Given the description of an element on the screen output the (x, y) to click on. 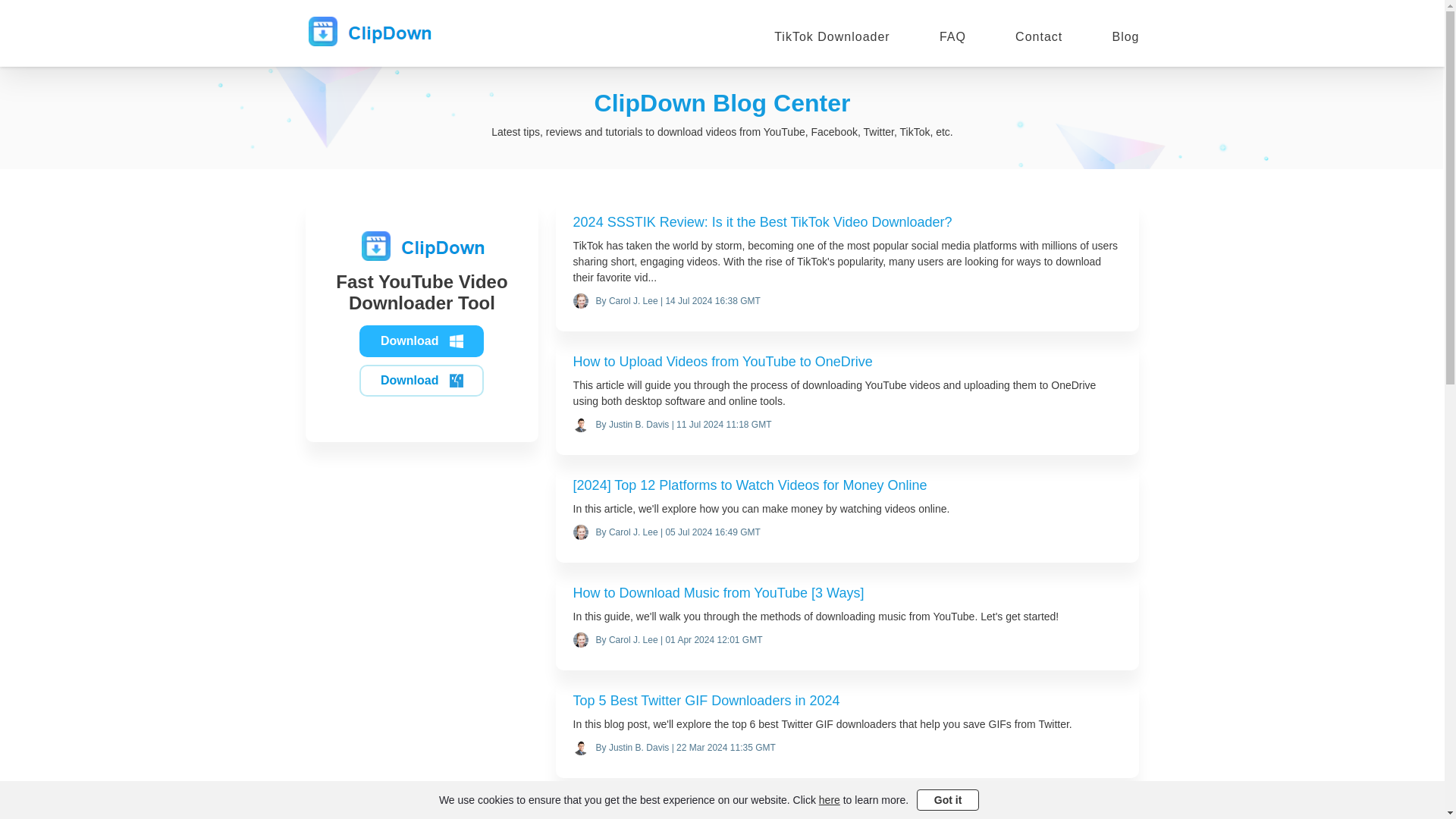
Blog (1125, 37)
FAQ (952, 37)
here (829, 799)
TikTok Downloader (831, 37)
Contact (1038, 37)
Download (421, 380)
Download (421, 341)
